Given the description of an element on the screen output the (x, y) to click on. 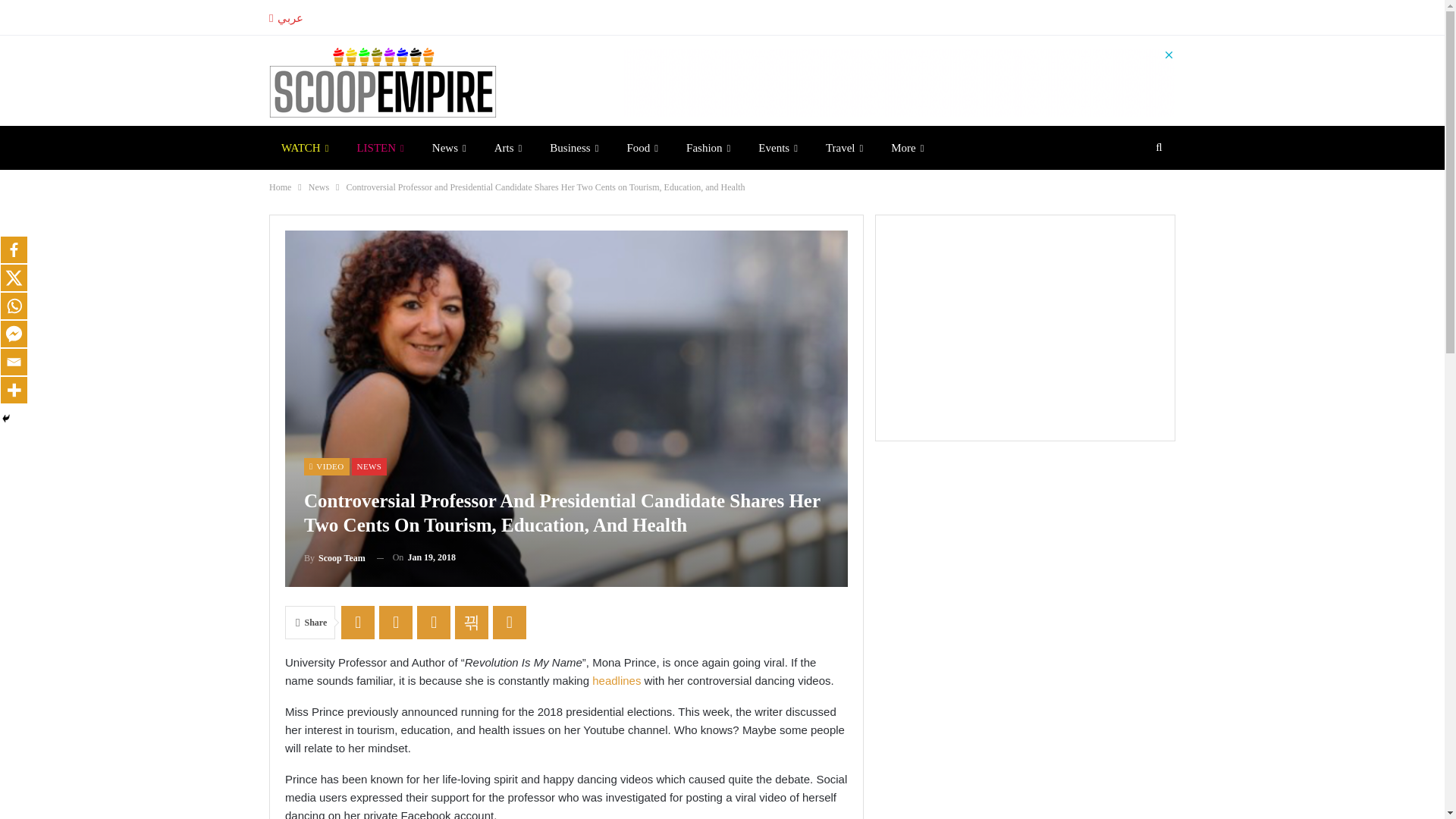
3rd party ad content (898, 82)
News (449, 147)
Arts (507, 147)
Business (573, 147)
LISTEN (378, 147)
WATCH (304, 147)
